Given the description of an element on the screen output the (x, y) to click on. 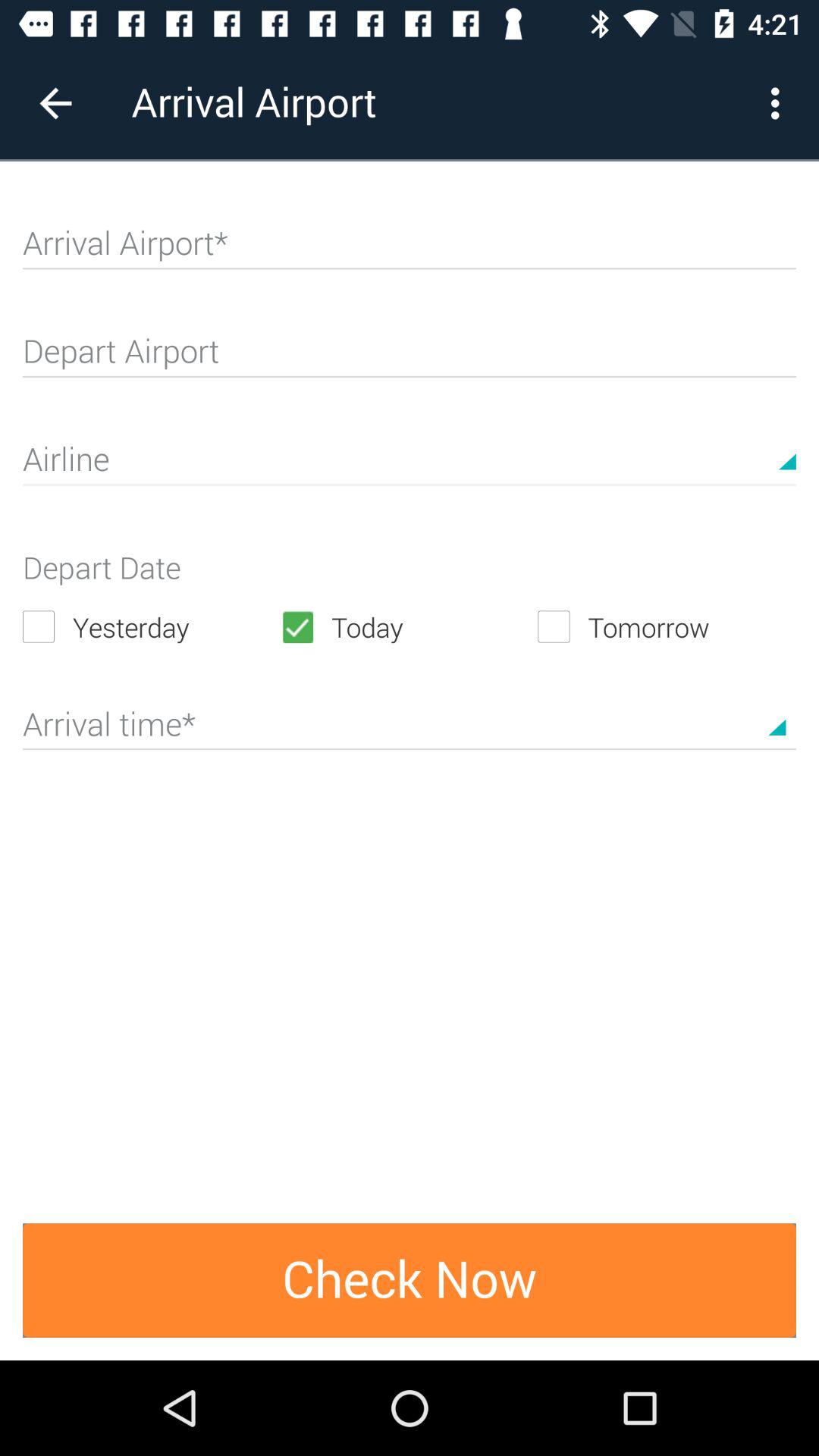
arrival airport (409, 249)
